Given the description of an element on the screen output the (x, y) to click on. 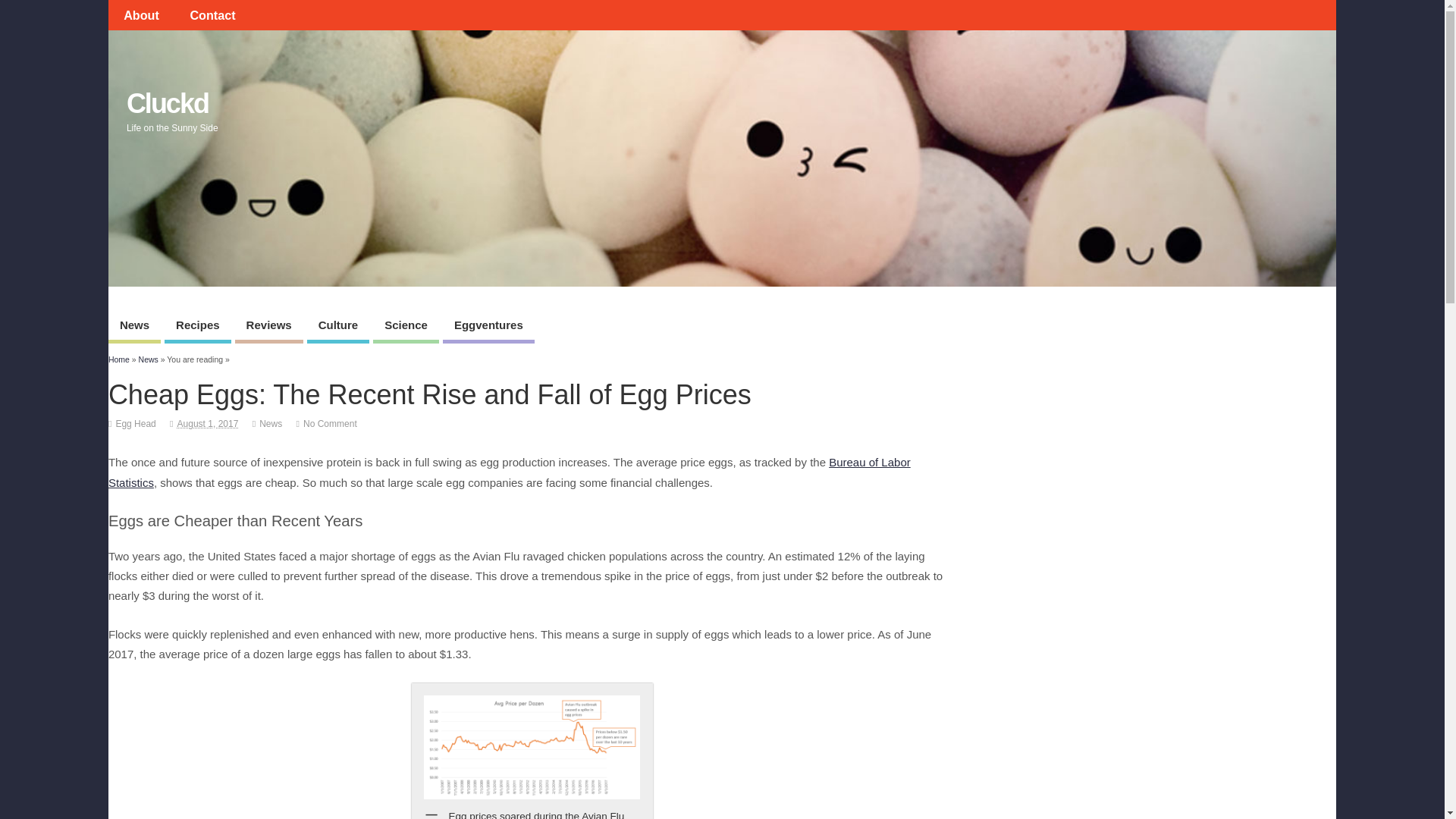
2017-08-01T12:00:58-05:00 (207, 423)
Bureau of Labor Statistics (509, 471)
No Comment (329, 423)
Contact (212, 15)
About (140, 15)
Egg Head (135, 423)
Posts by Egg Head (135, 423)
News (270, 423)
Cluckd (167, 102)
Home (118, 358)
Reviews (268, 327)
Recipes (197, 327)
Science (405, 327)
Cluckd (167, 102)
Eggventures (488, 327)
